Given the description of an element on the screen output the (x, y) to click on. 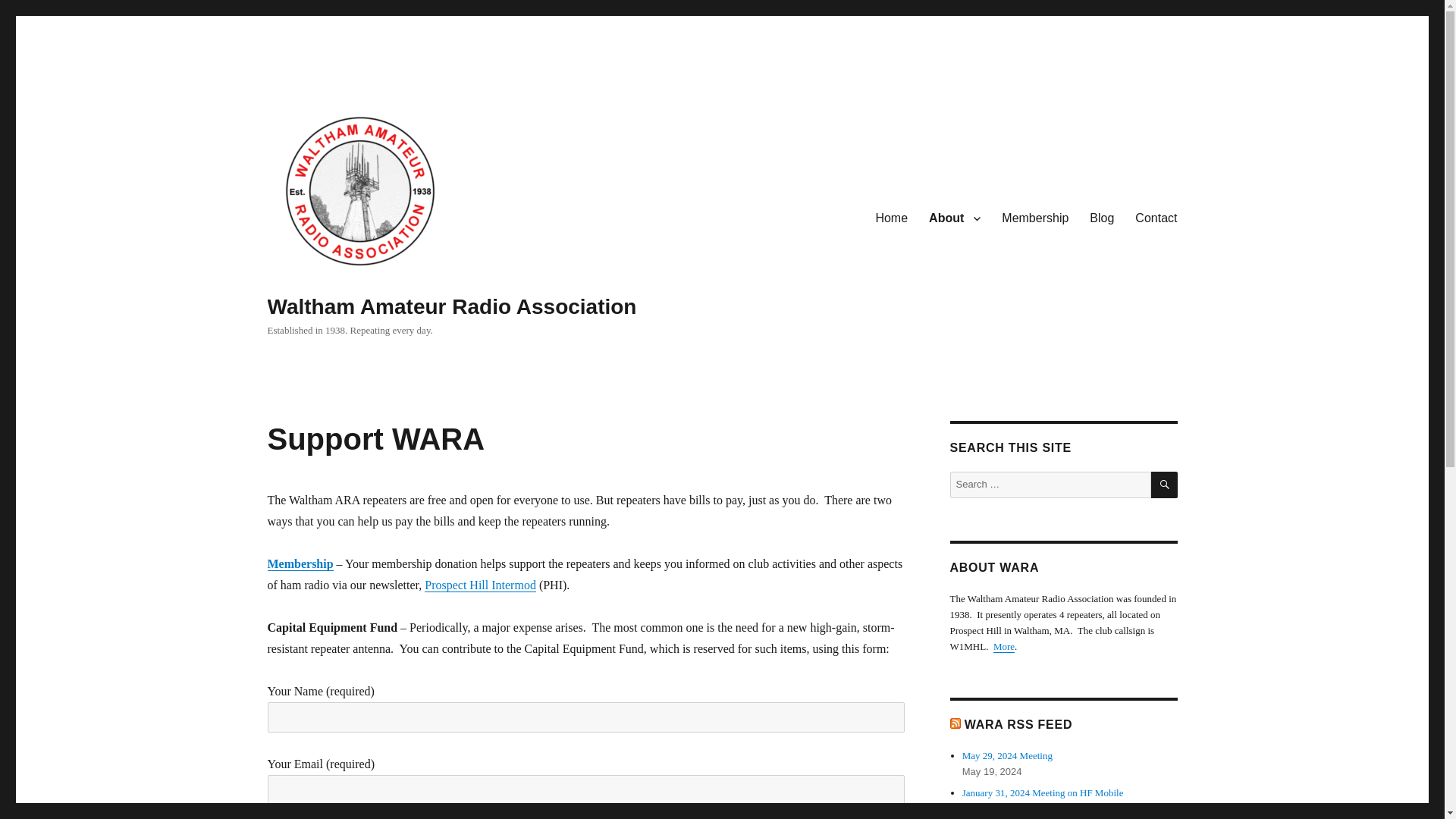
May 29, 2024 Meeting (1007, 755)
Waltham Amateur Radio Association (451, 306)
Membership (299, 563)
Contact (1156, 218)
SEARCH (1164, 484)
Blog (1101, 218)
Prospect Hill Intermod (480, 584)
More (1003, 645)
January 31, 2024 Meeting on HF Mobile (1043, 792)
WARA RSS FEED (1018, 724)
